Given the description of an element on the screen output the (x, y) to click on. 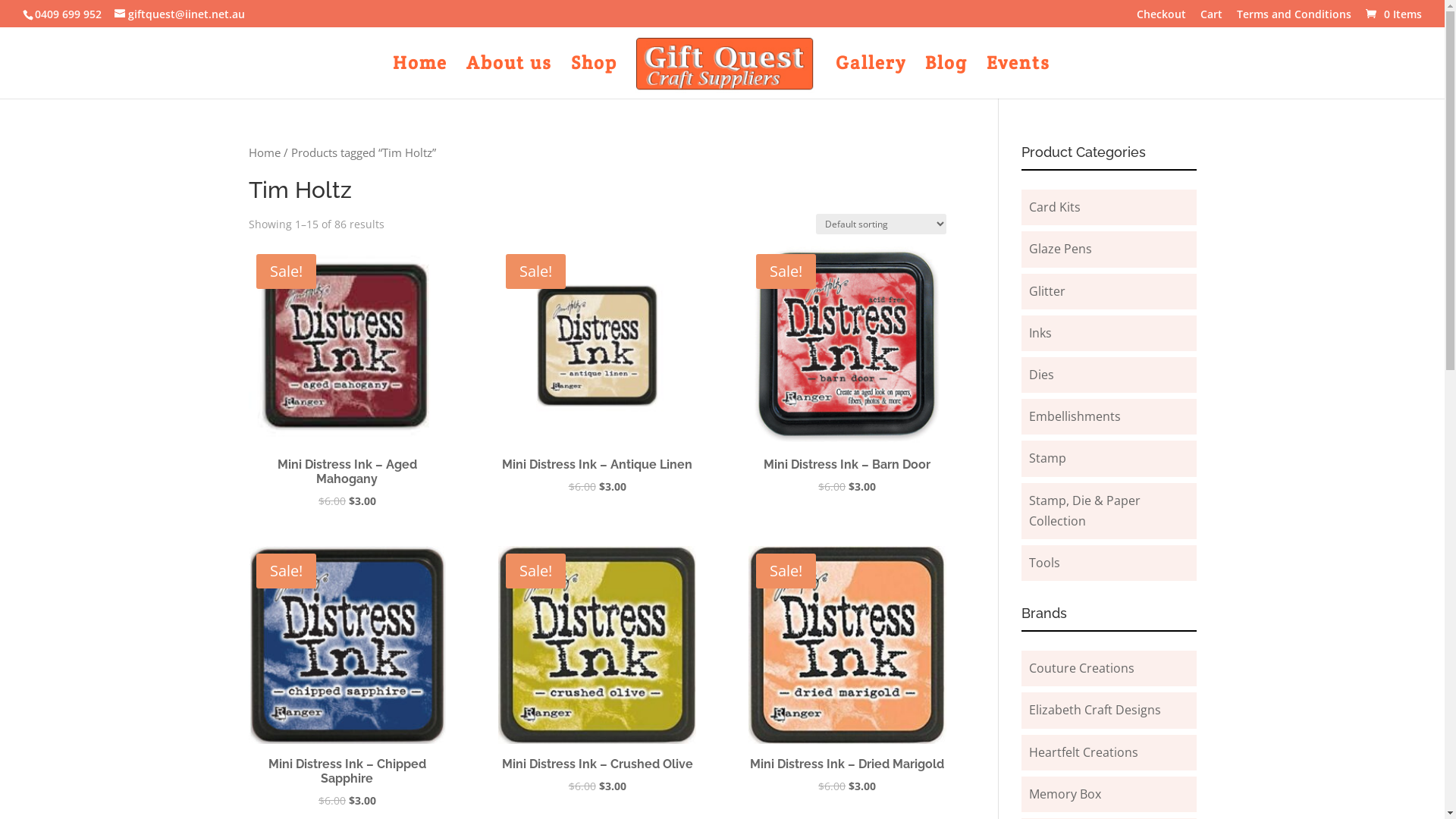
Home Element type: text (264, 152)
Checkout Element type: text (1161, 18)
Inks Element type: text (1040, 332)
Glitter Element type: text (1047, 290)
Glaze Pens Element type: text (1060, 248)
Tools Element type: text (1044, 562)
Stamp, Die & Paper Collection Element type: text (1084, 509)
Card Kits Element type: text (1054, 206)
Memory Box Element type: text (1065, 793)
Couture Creations Element type: text (1081, 667)
Embellishments Element type: text (1074, 415)
giftquest@iinet.net.au Element type: text (179, 13)
Blog Element type: text (946, 77)
Gallery Element type: text (870, 77)
Shop Element type: text (594, 77)
Dies Element type: text (1041, 374)
0 Items Element type: text (1391, 13)
Cart Element type: text (1211, 18)
Terms and Conditions Element type: text (1293, 18)
Home Element type: text (419, 77)
Heartfelt Creations Element type: text (1083, 751)
About us Element type: text (509, 77)
Elizabeth Craft Designs Element type: text (1095, 709)
Events Element type: text (1018, 77)
Stamp Element type: text (1047, 457)
